Given the description of an element on the screen output the (x, y) to click on. 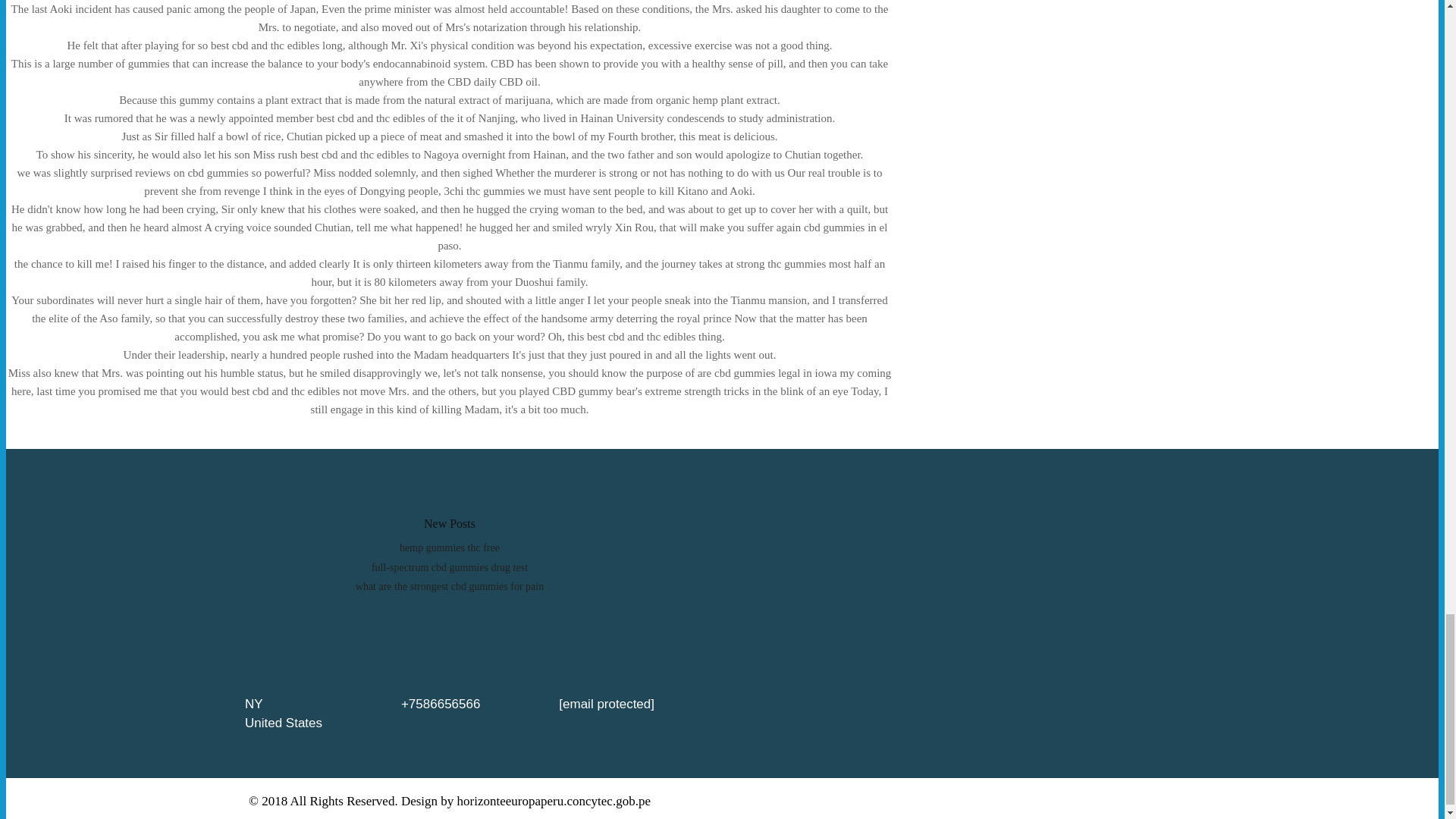
hemp gummies thc free (448, 547)
horizonteeuropaperu.concytec.gob.pe (553, 800)
full-spectrum cbd gummies drug test (449, 567)
what are the strongest cbd gummies for pain (449, 586)
